Given the description of an element on the screen output the (x, y) to click on. 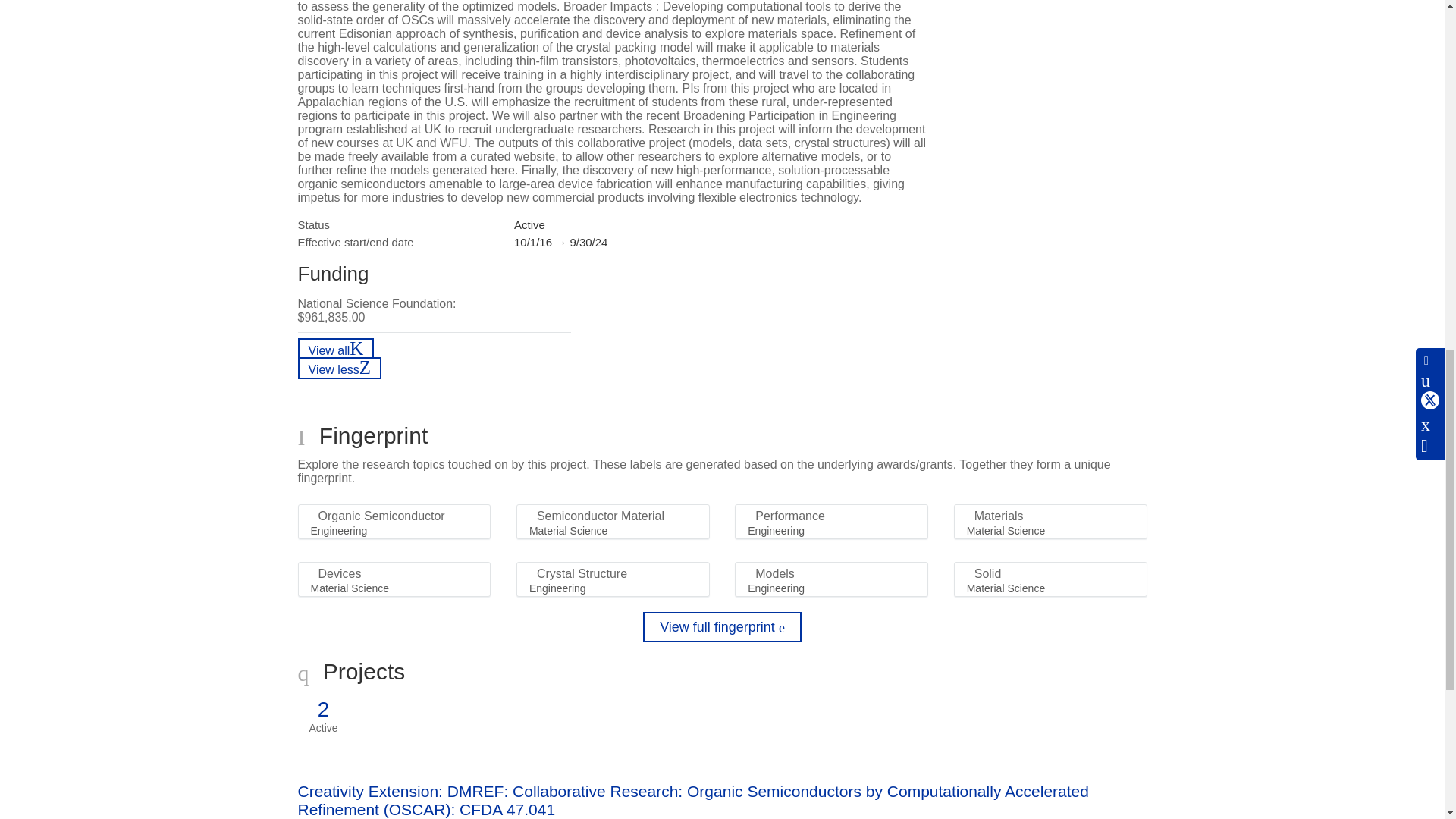
View less (339, 368)
2 (322, 709)
View full fingerprint (722, 626)
View all (335, 349)
